Given the description of an element on the screen output the (x, y) to click on. 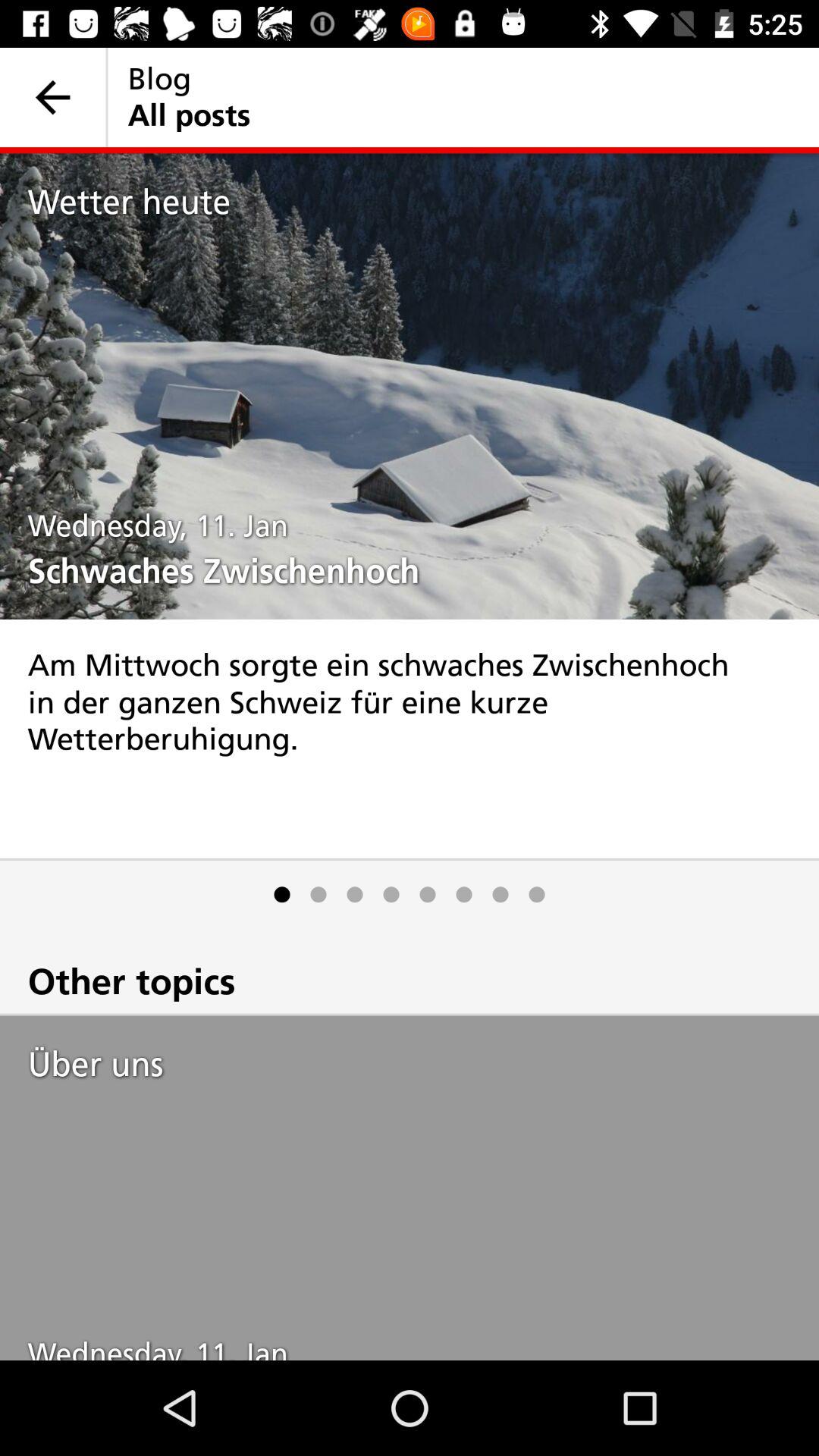
jump to wetter heute icon (423, 201)
